Given the description of an element on the screen output the (x, y) to click on. 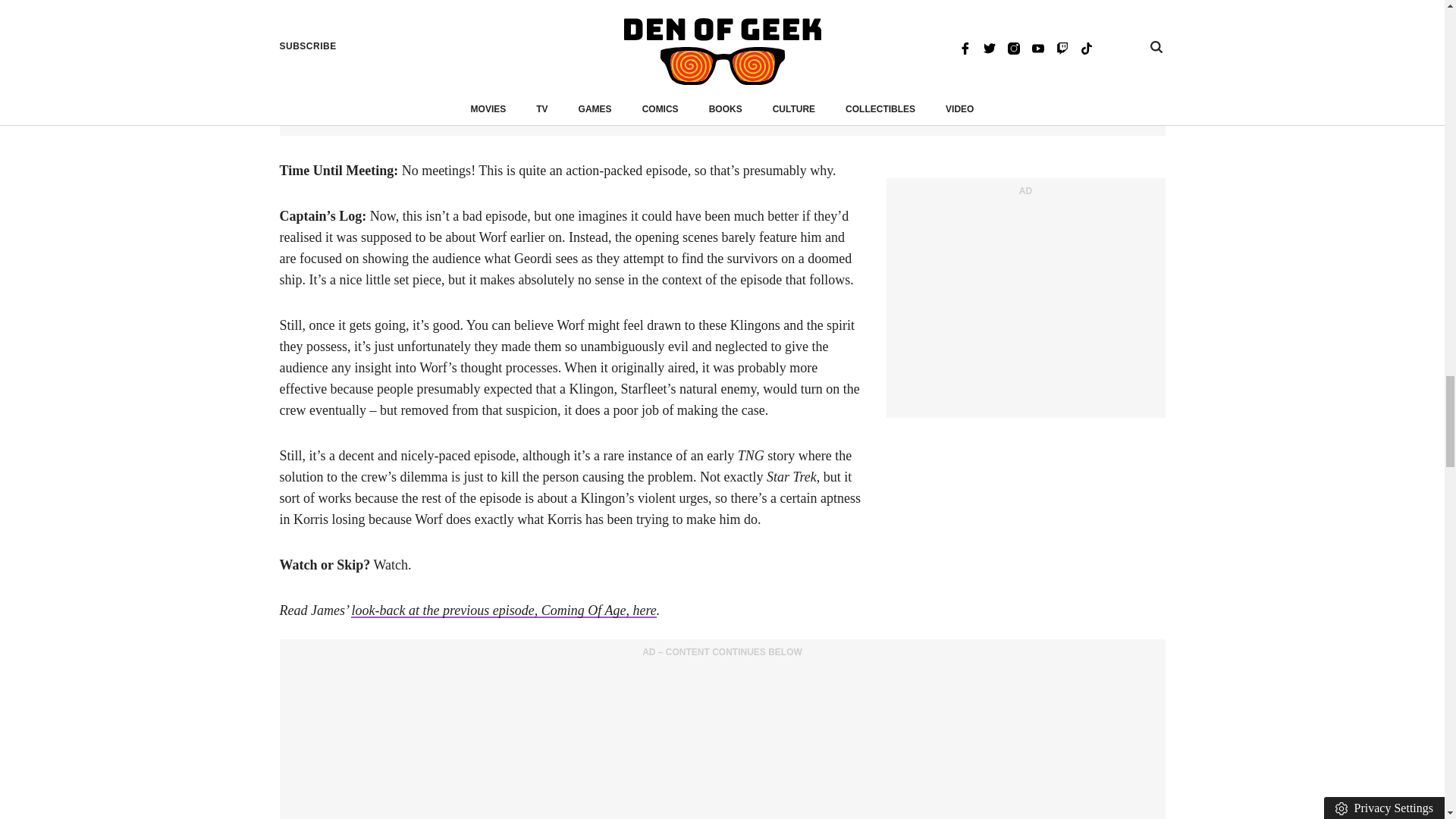
look-back at the previous episode, Coming Of Age, here (503, 610)
